Given the description of an element on the screen output the (x, y) to click on. 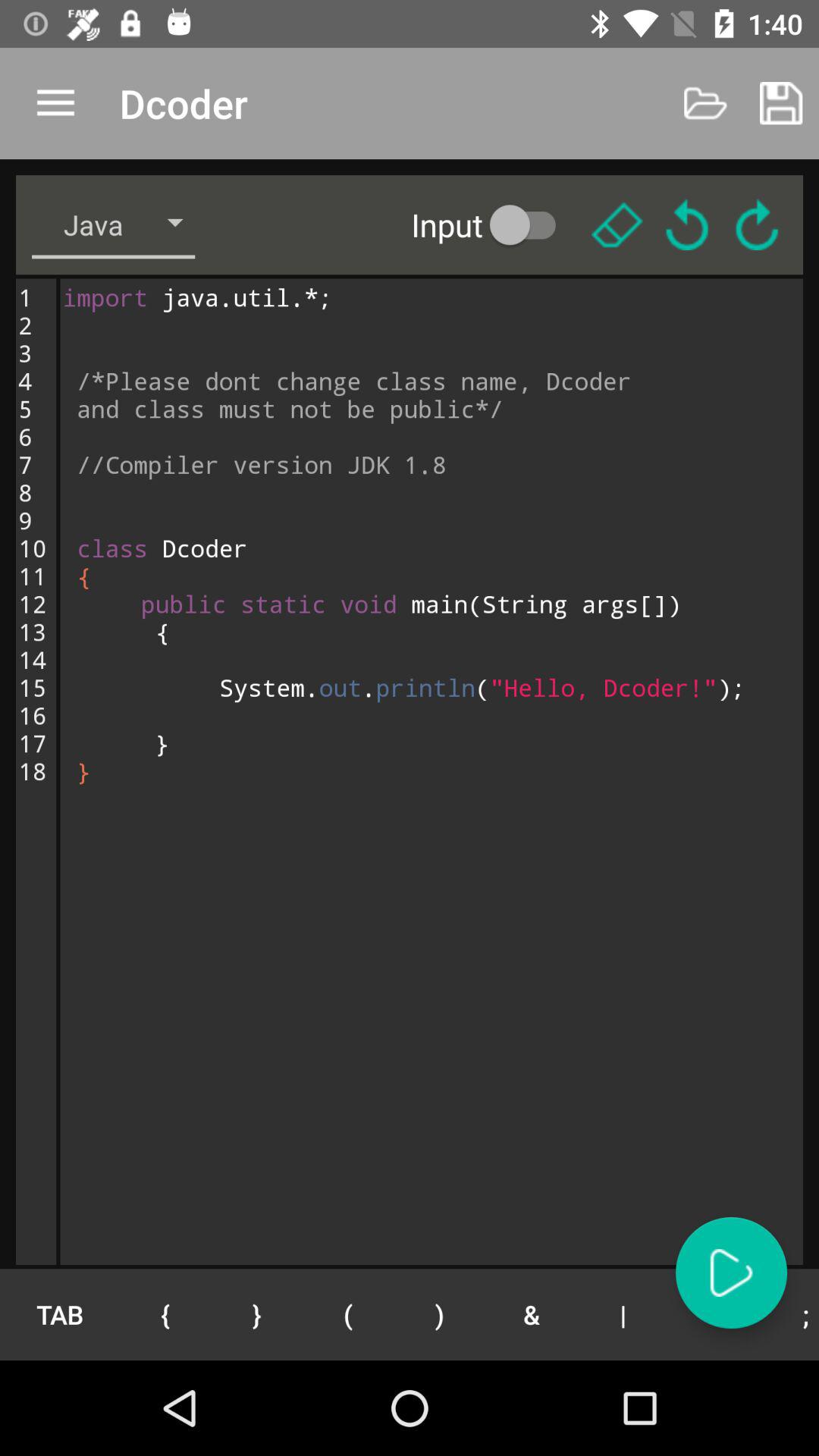
turn off item next to & (439, 1314)
